Given the description of an element on the screen output the (x, y) to click on. 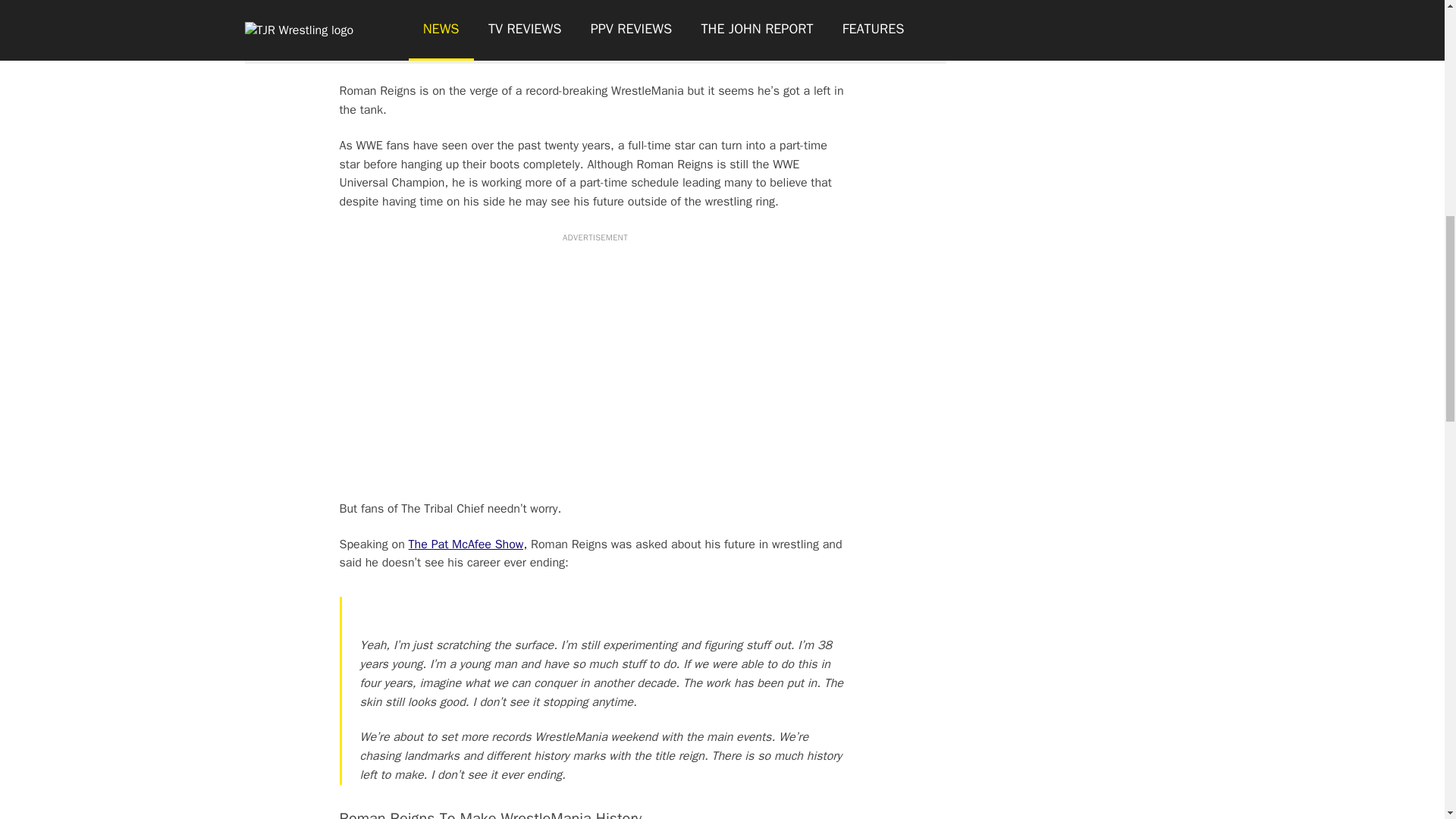
The Pat McAfee Show, (468, 544)
